Given the description of an element on the screen output the (x, y) to click on. 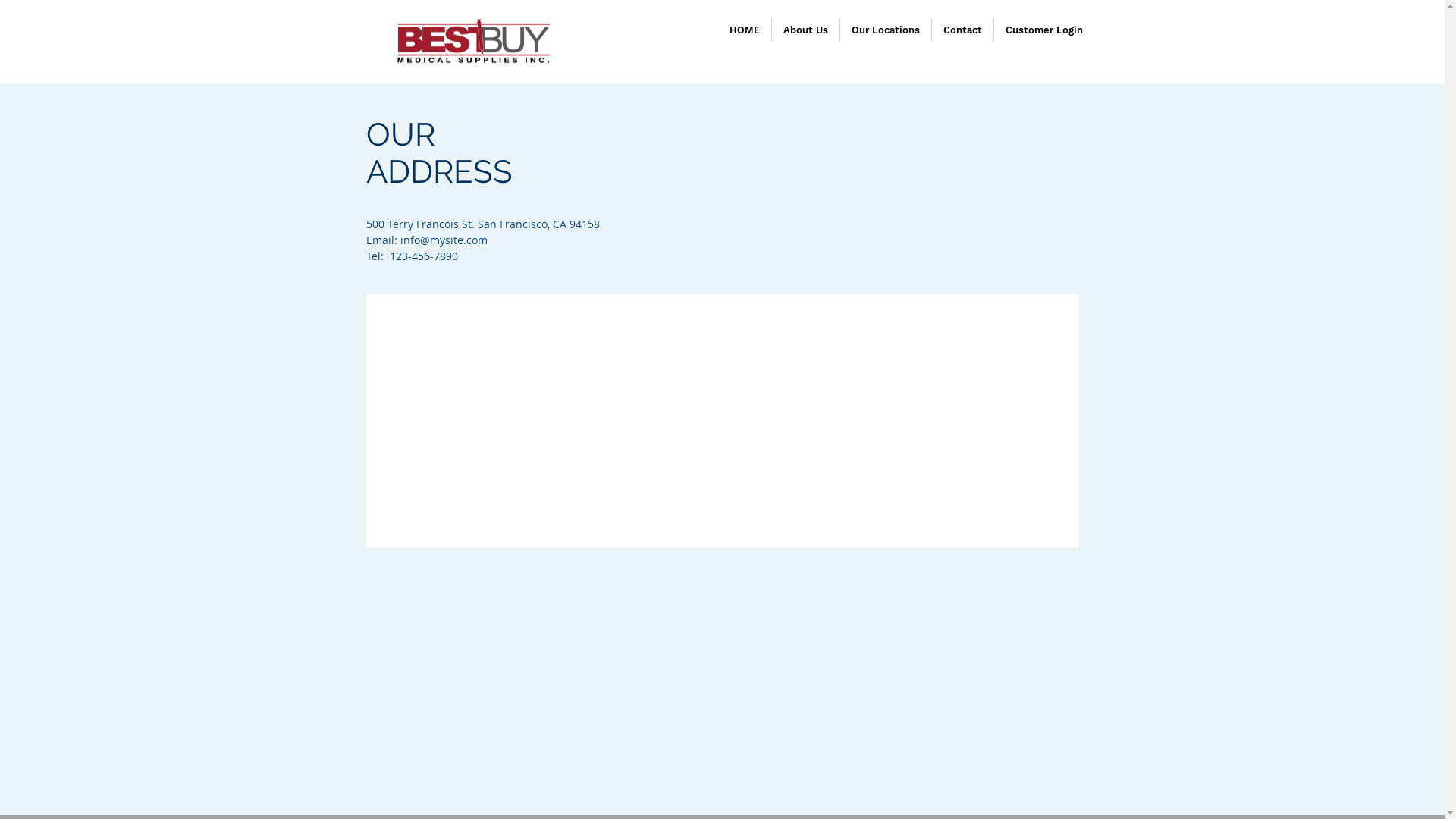
Customer Login Element type: text (1043, 29)
Contact Element type: text (961, 29)
info@mysite.com Element type: text (443, 239)
About Us Element type: text (805, 29)
HOME Element type: text (743, 29)
Google Maps Element type: hover (722, 420)
Our Locations Element type: text (885, 29)
